Given the description of an element on the screen output the (x, y) to click on. 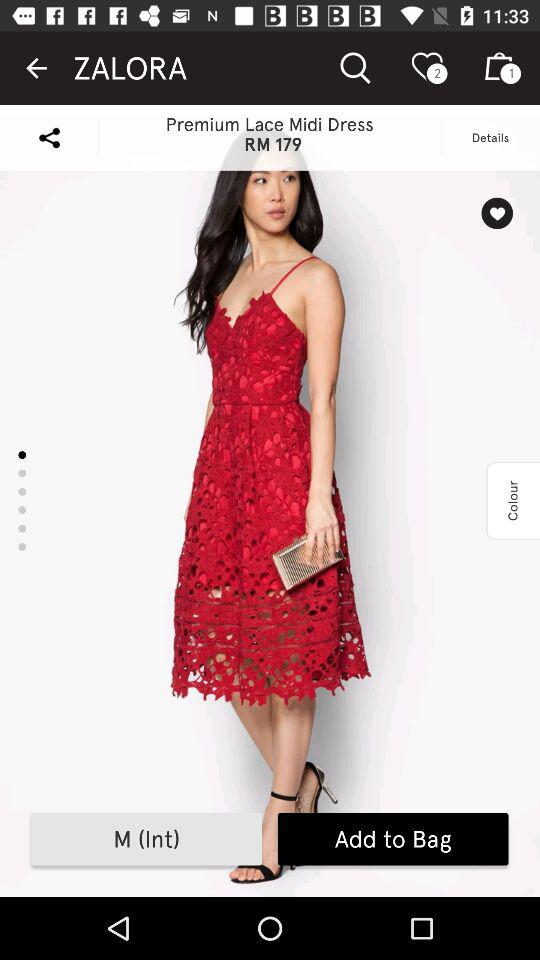
choose icon to the left of add to bag (146, 839)
